Given the description of an element on the screen output the (x, y) to click on. 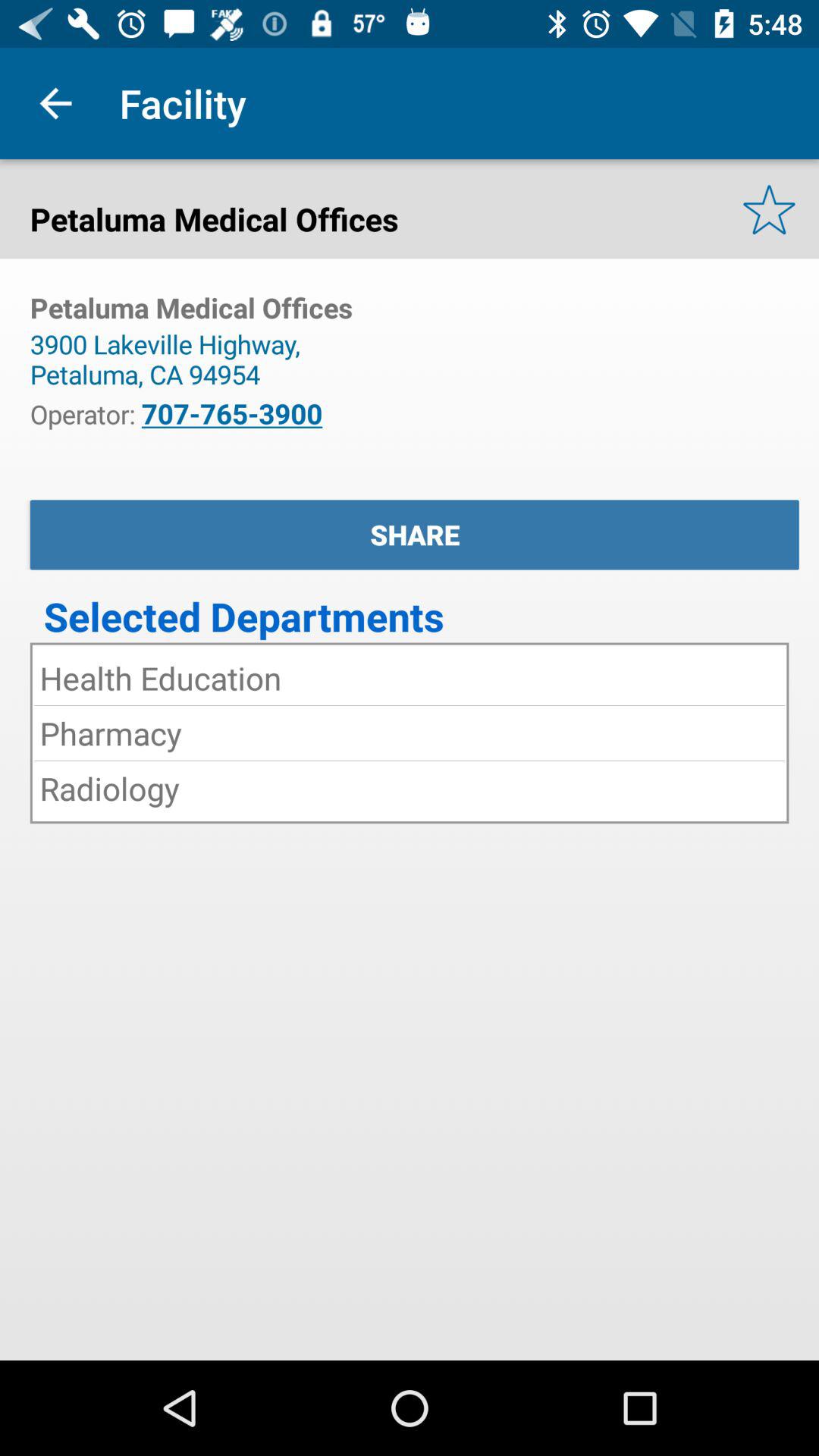
select app to the left of the facility icon (55, 103)
